Given the description of an element on the screen output the (x, y) to click on. 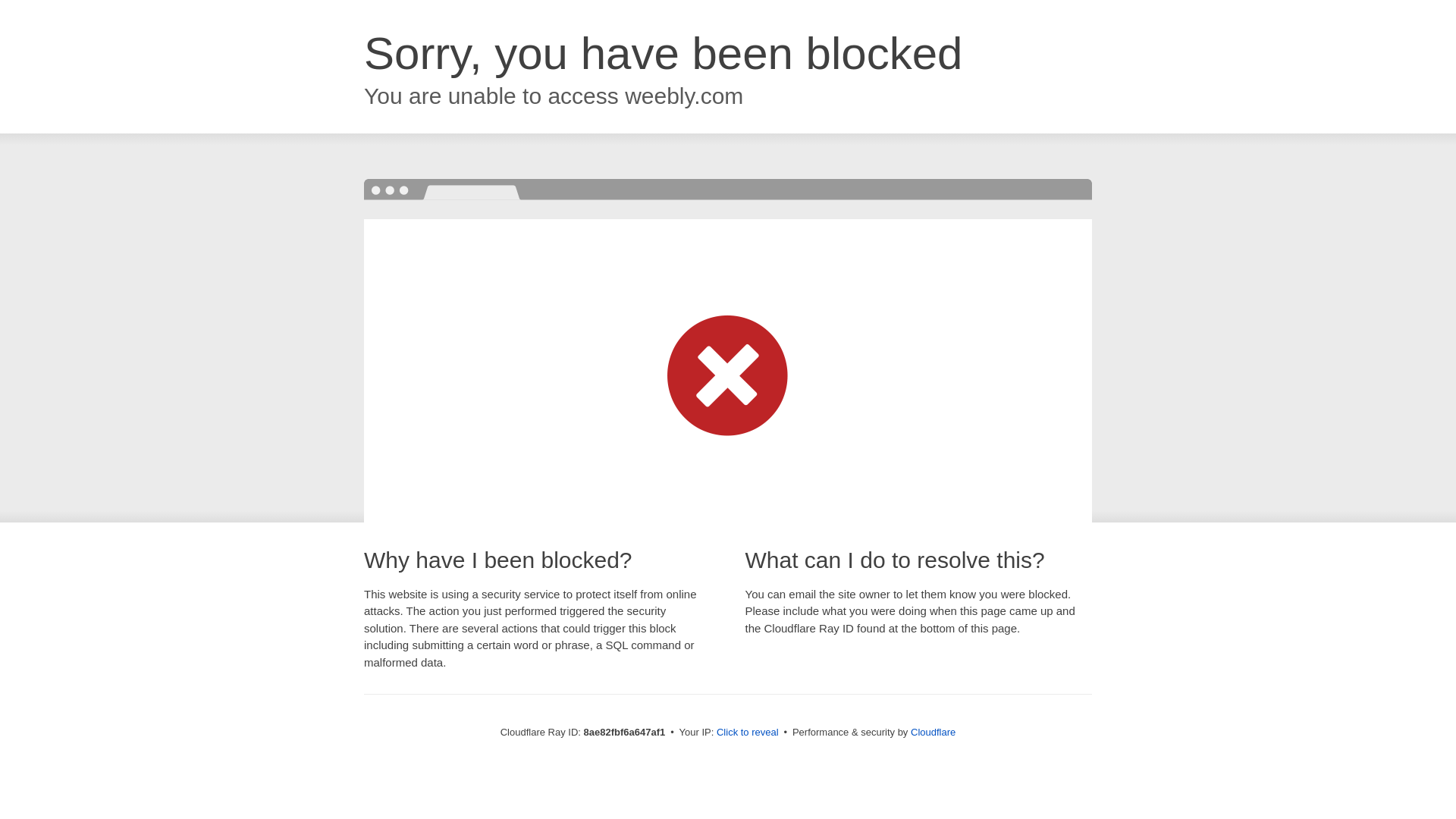
Click to reveal (747, 732)
Cloudflare (933, 731)
